Given the description of an element on the screen output the (x, y) to click on. 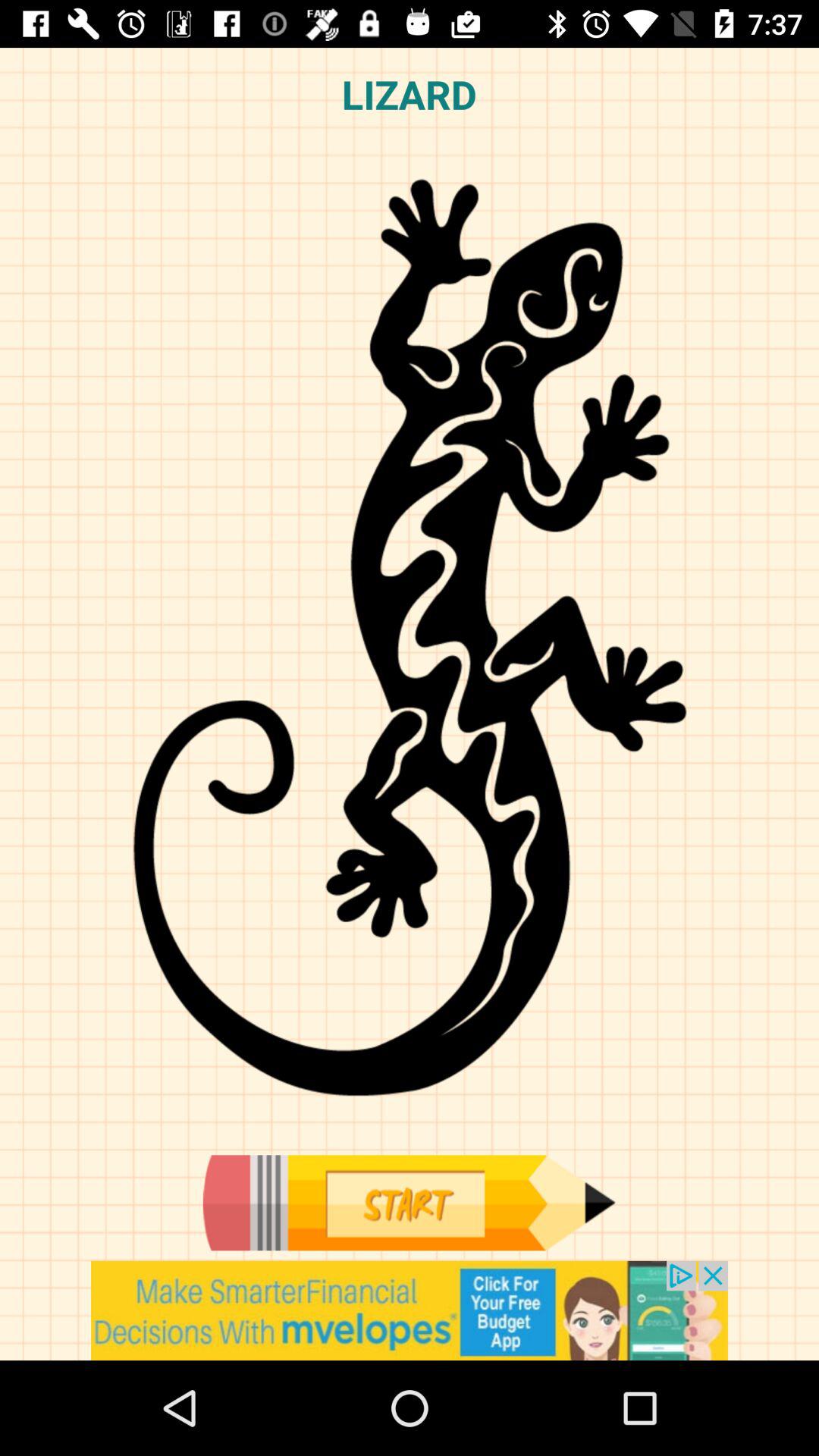
start drawing option (409, 1202)
